Given the description of an element on the screen output the (x, y) to click on. 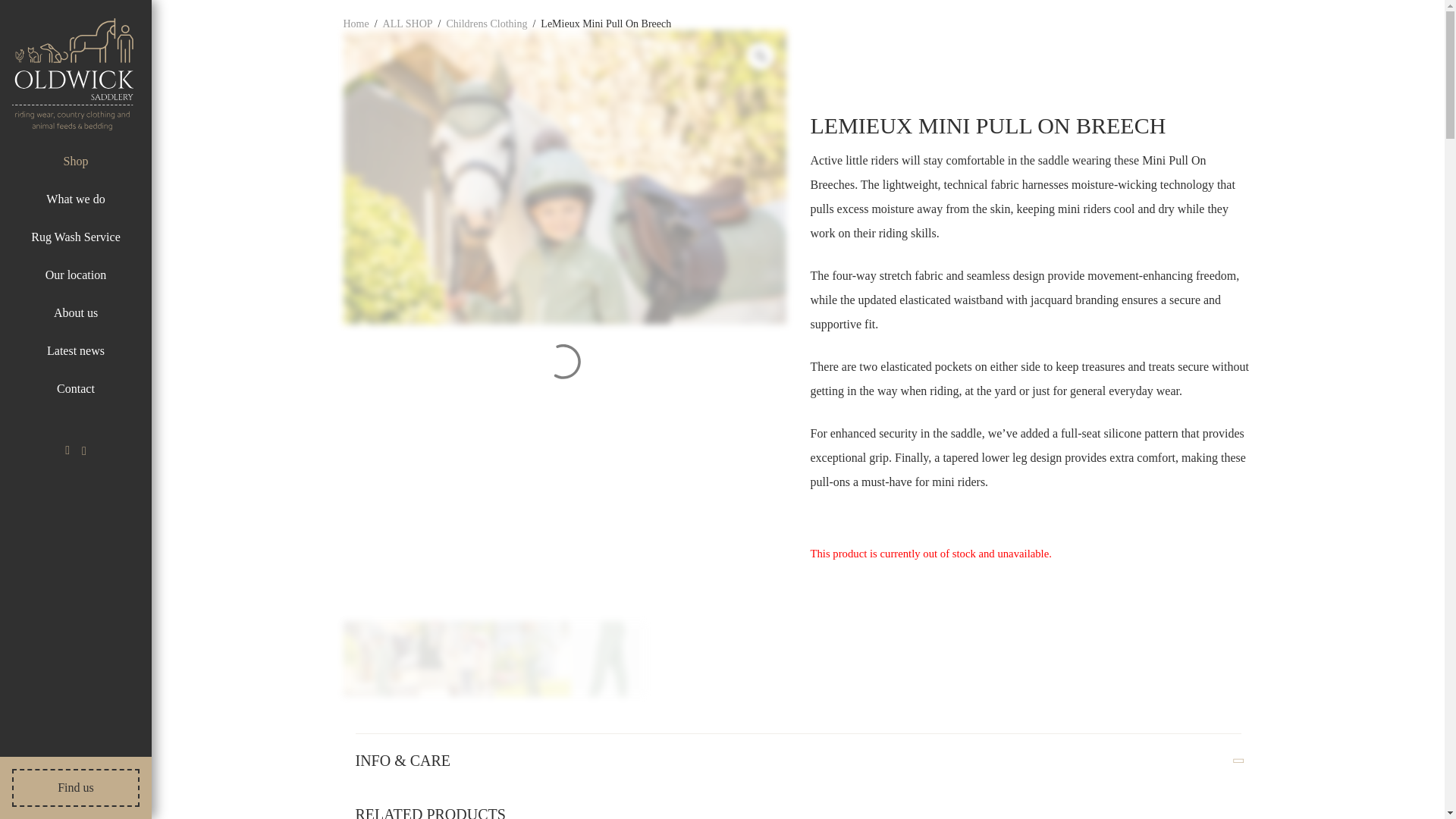
Find us (75, 787)
Latest news (75, 350)
Home (355, 24)
Rug Wash Service (75, 237)
Oldwick Saddlery (72, 74)
Contact (75, 388)
Childrens Clothing (486, 24)
mina4 (457, 658)
Our location (75, 274)
About us (75, 313)
What we do (75, 199)
Shop (76, 161)
ALL SHOP (407, 24)
